Given the description of an element on the screen output the (x, y) to click on. 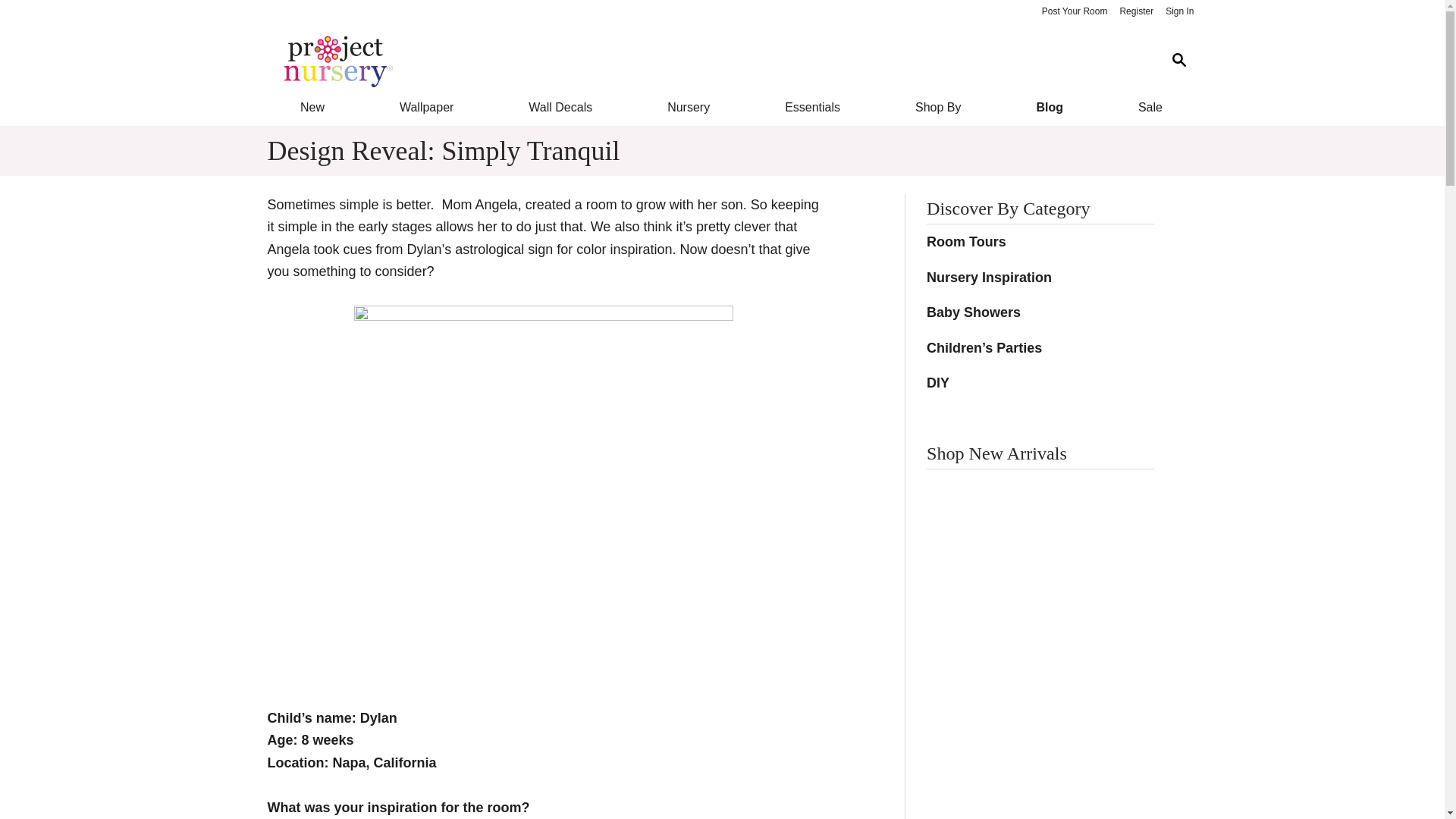
Sign In (1178, 11)
Search (1178, 60)
New (311, 107)
Post Your Room (1074, 11)
Project Nursery (709, 60)
Post Your Room (1074, 11)
Register (1135, 11)
Nursery (689, 107)
Wallpaper (425, 107)
Wall Decals (561, 107)
